Given the description of an element on the screen output the (x, y) to click on. 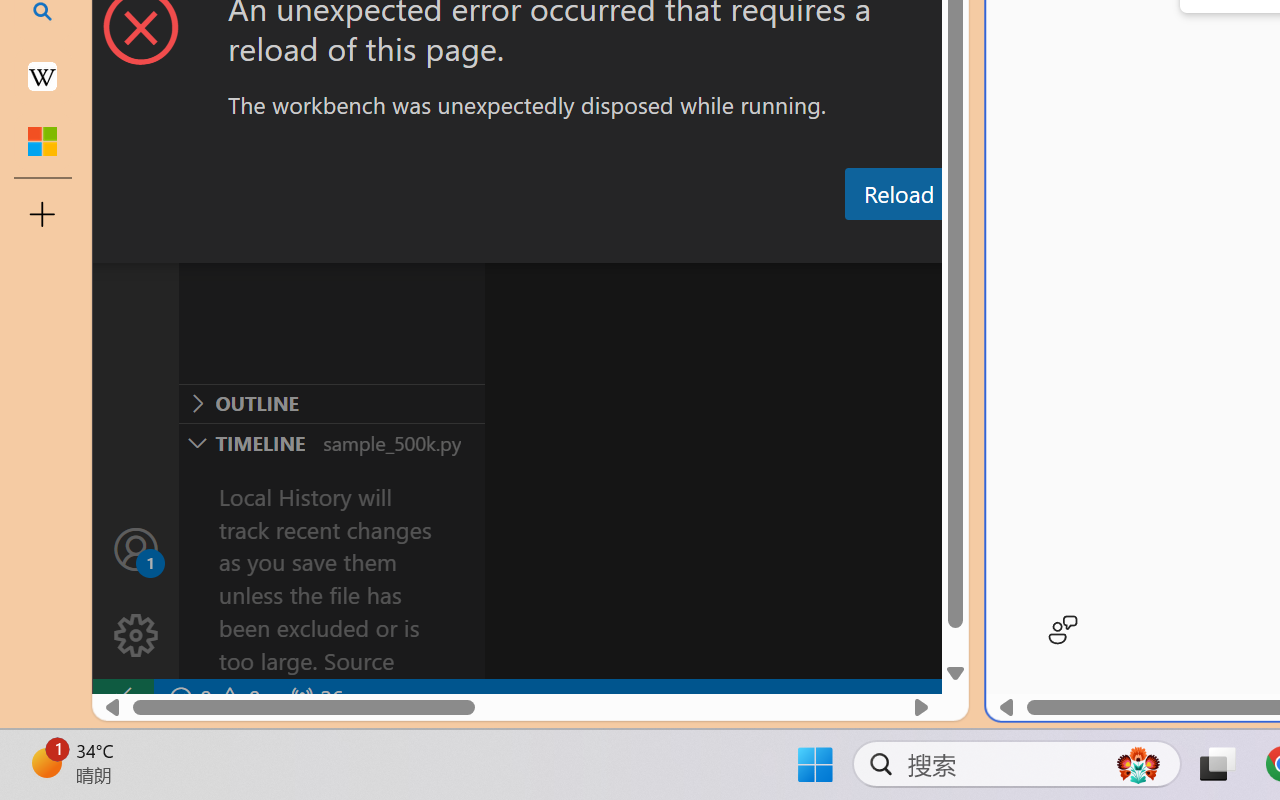
Problems (Ctrl+Shift+M) (567, 243)
Manage (135, 591)
Timeline Section (331, 442)
Reload (898, 193)
Output (Ctrl+Shift+U) (696, 243)
Outline Section (331, 403)
